Given the description of an element on the screen output the (x, y) to click on. 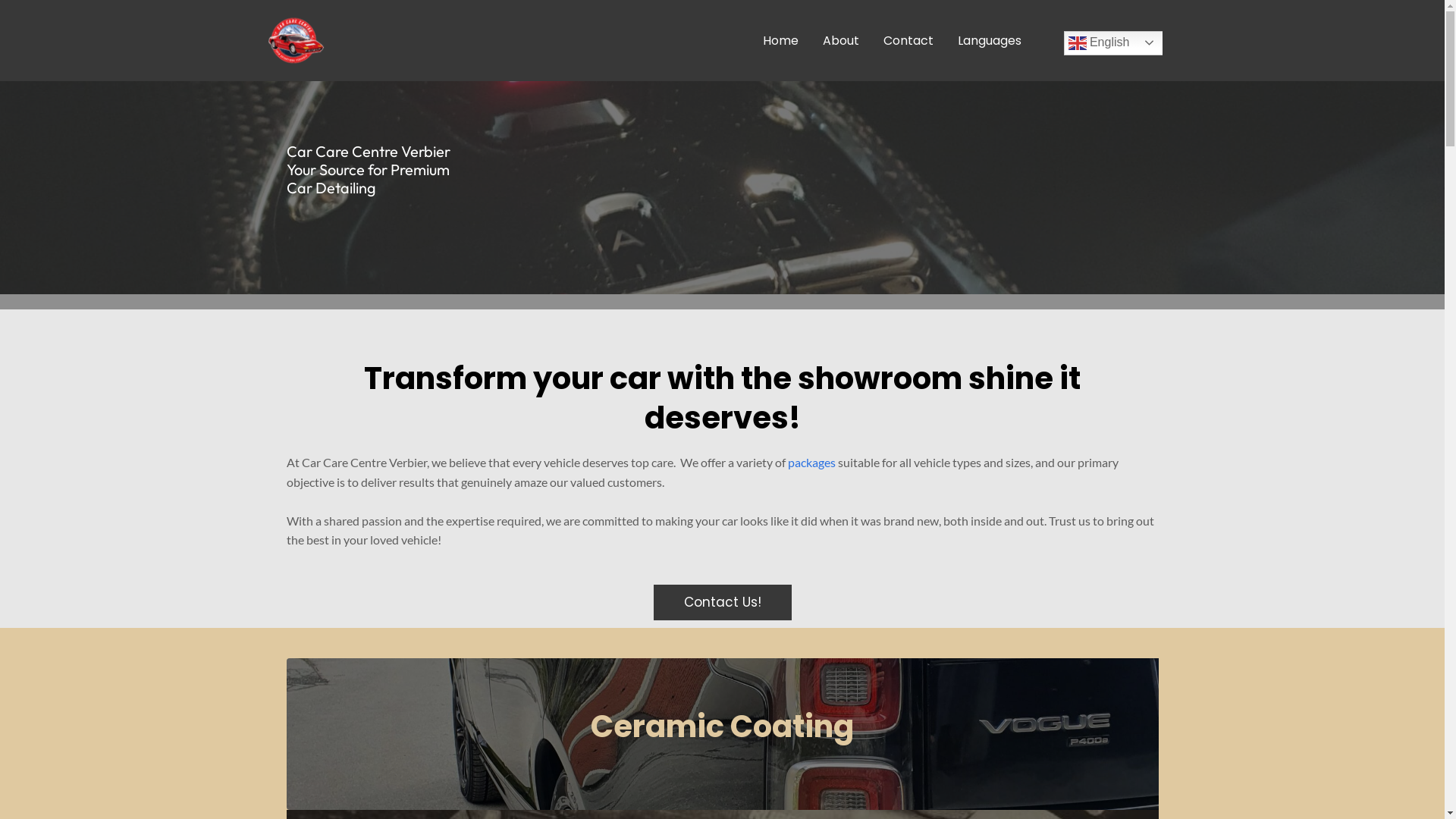
Ceramic Coating Element type: text (722, 733)
Contact Element type: text (907, 39)
Contact Us! Element type: text (722, 602)
packages Element type: text (810, 462)
Languages Element type: text (988, 39)
English Element type: text (1128, 43)
Home Element type: text (780, 39)
About Element type: text (839, 39)
